Given the description of an element on the screen output the (x, y) to click on. 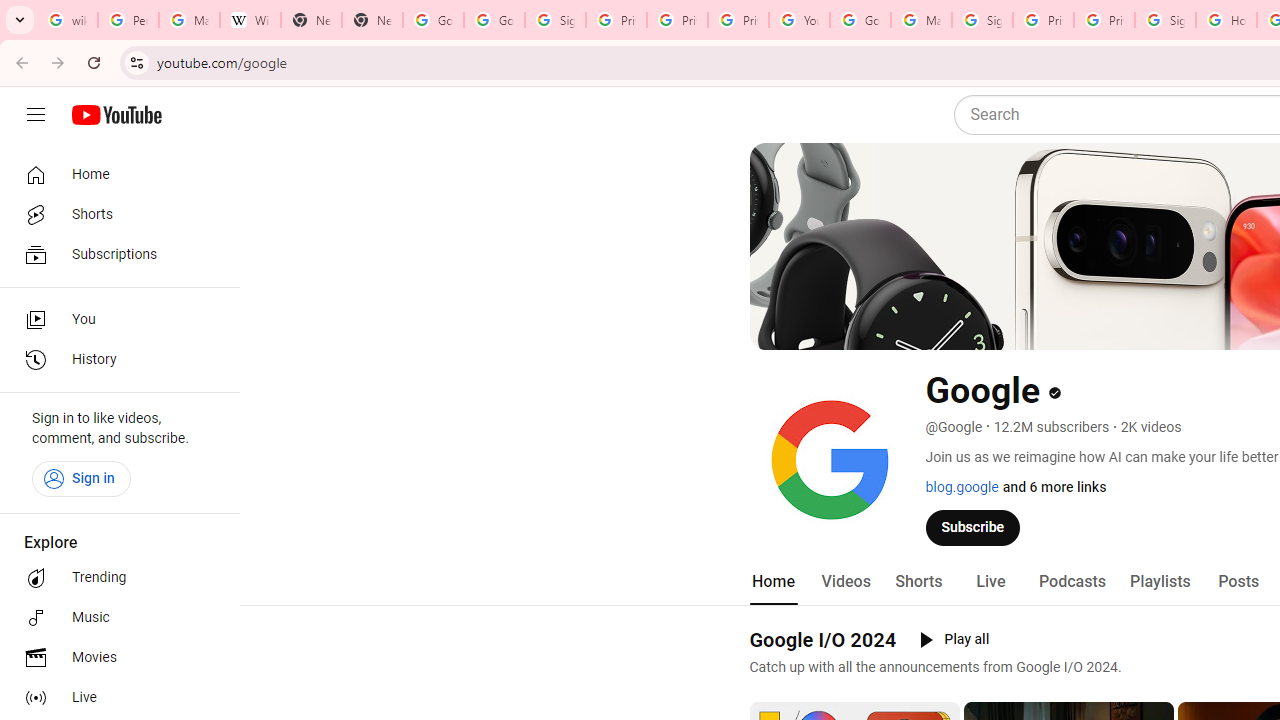
YouTube (799, 20)
Google Account Help (859, 20)
Play all (954, 640)
Personalization & Google Search results - Google Search Help (128, 20)
Posts (1238, 581)
Manage your Location History - Google Search Help (189, 20)
Trending (113, 578)
Sign in - Google Accounts (982, 20)
New Tab (372, 20)
History (113, 359)
Subscriptions (113, 254)
